Given the description of an element on the screen output the (x, y) to click on. 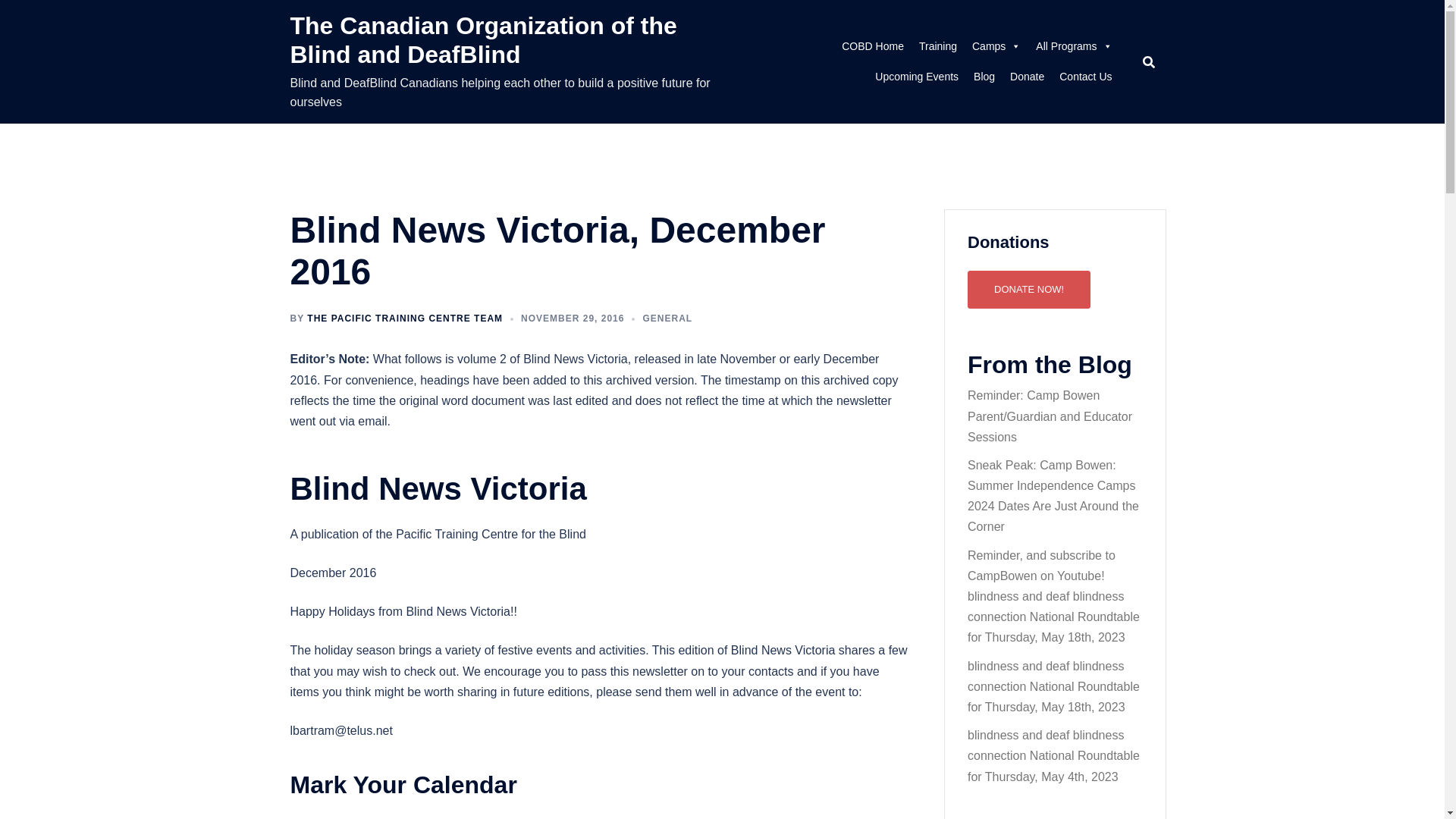
COBD Home (872, 46)
All Programs (1073, 46)
Blog (984, 76)
Donate (1027, 76)
Training (937, 46)
Upcoming Events (916, 76)
The Canadian Organization of the Blind and DeafBlind (483, 39)
Camps (995, 46)
Contact Us (1085, 76)
